Given the description of an element on the screen output the (x, y) to click on. 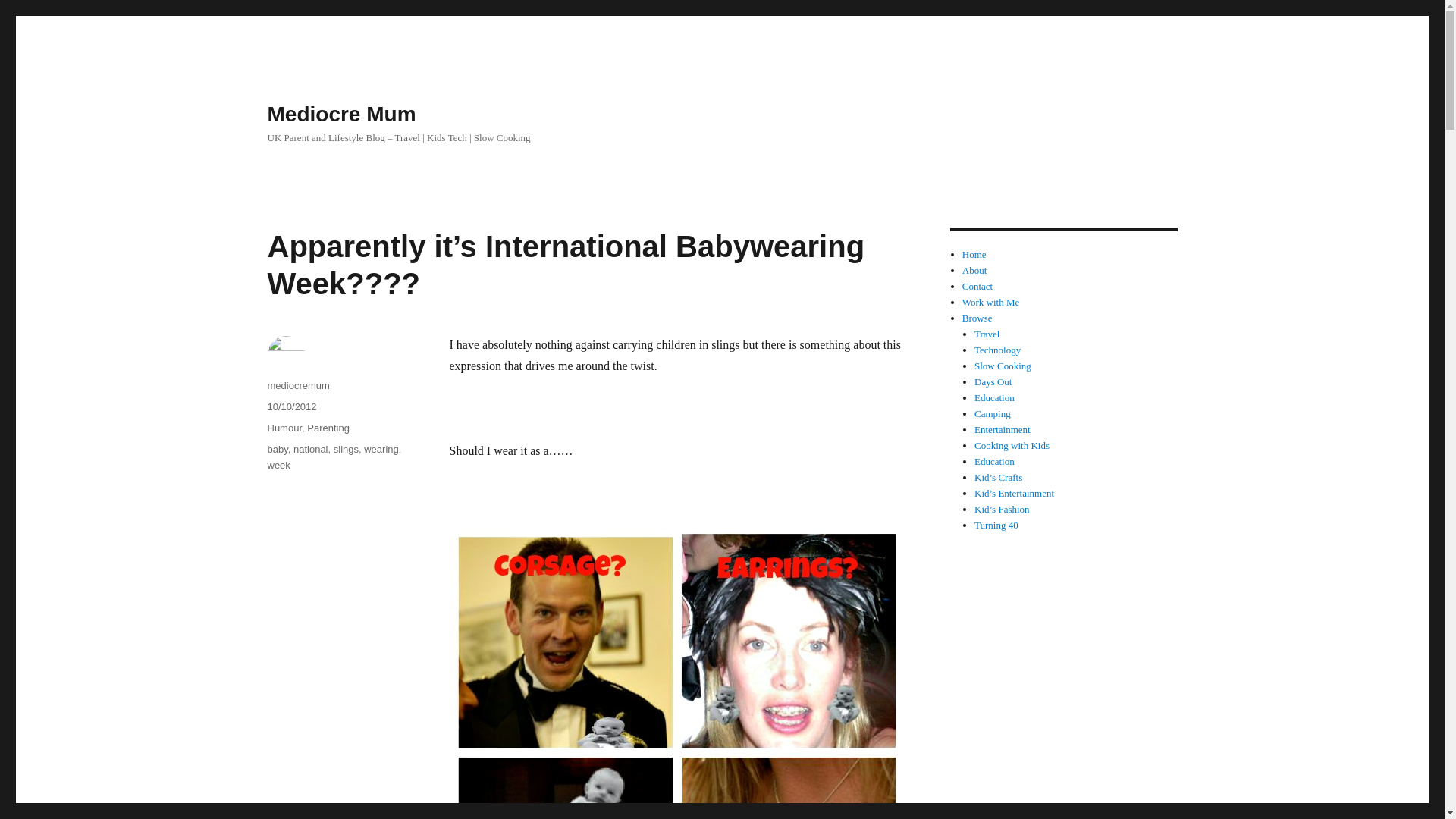
national (311, 449)
baby (276, 449)
wearing (381, 449)
Humour (283, 428)
slings (345, 449)
mediocremum (297, 385)
Mediocre Mum (340, 114)
Parenting (328, 428)
week (277, 464)
babywearingweek (676, 672)
